Given the description of an element on the screen output the (x, y) to click on. 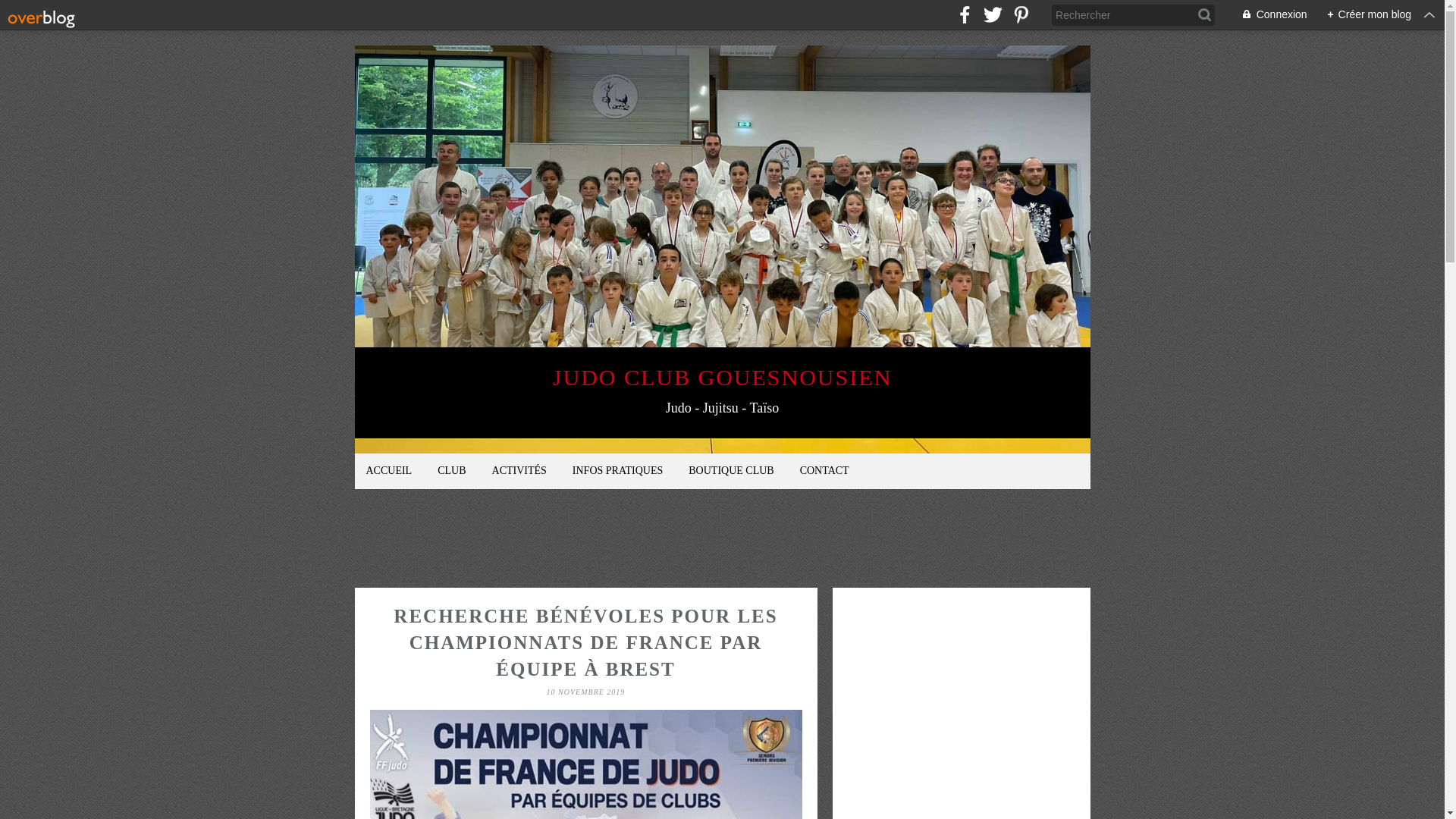
CLUB Element type: text (451, 471)
 pinterest Element type: hover (1020, 14)
CONTACT Element type: text (824, 471)
 twitter Element type: hover (992, 14)
JUDO CLUB GOUESNOUSIEN Element type: text (721, 376)
ACCUEIL Element type: text (388, 471)
 facebook Element type: hover (964, 14)
Connexion Element type: text (1266, 14)
INFOS PRATIQUES Element type: text (617, 471)
BOUTIQUE CLUB Element type: text (730, 471)
